Given the description of an element on the screen output the (x, y) to click on. 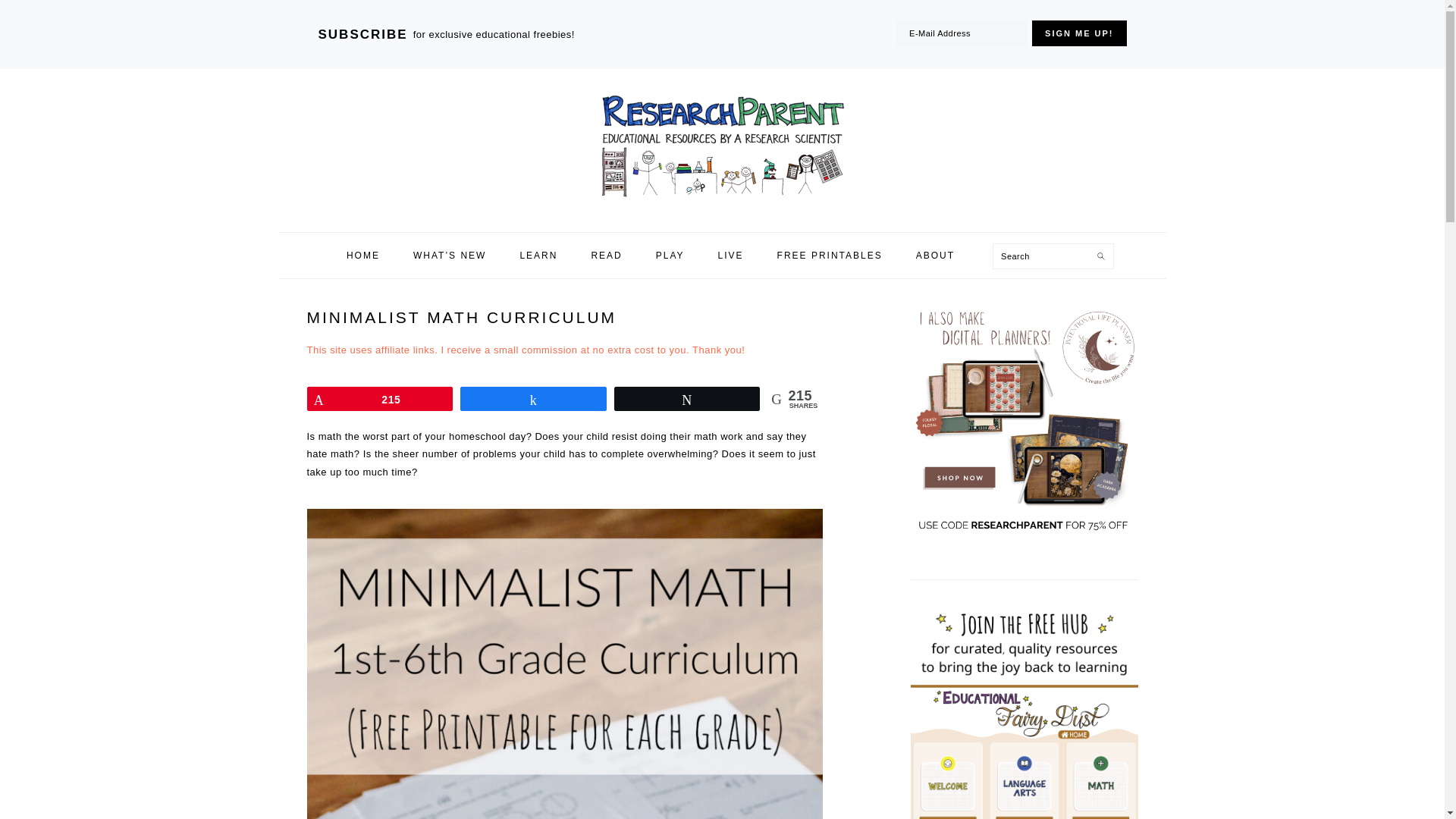
Sign Me Up! (1078, 32)
HOME (363, 255)
RESEARCHPARENT.COM (721, 146)
Sign Me Up! (1078, 32)
LEARN (538, 255)
